Given the description of an element on the screen output the (x, y) to click on. 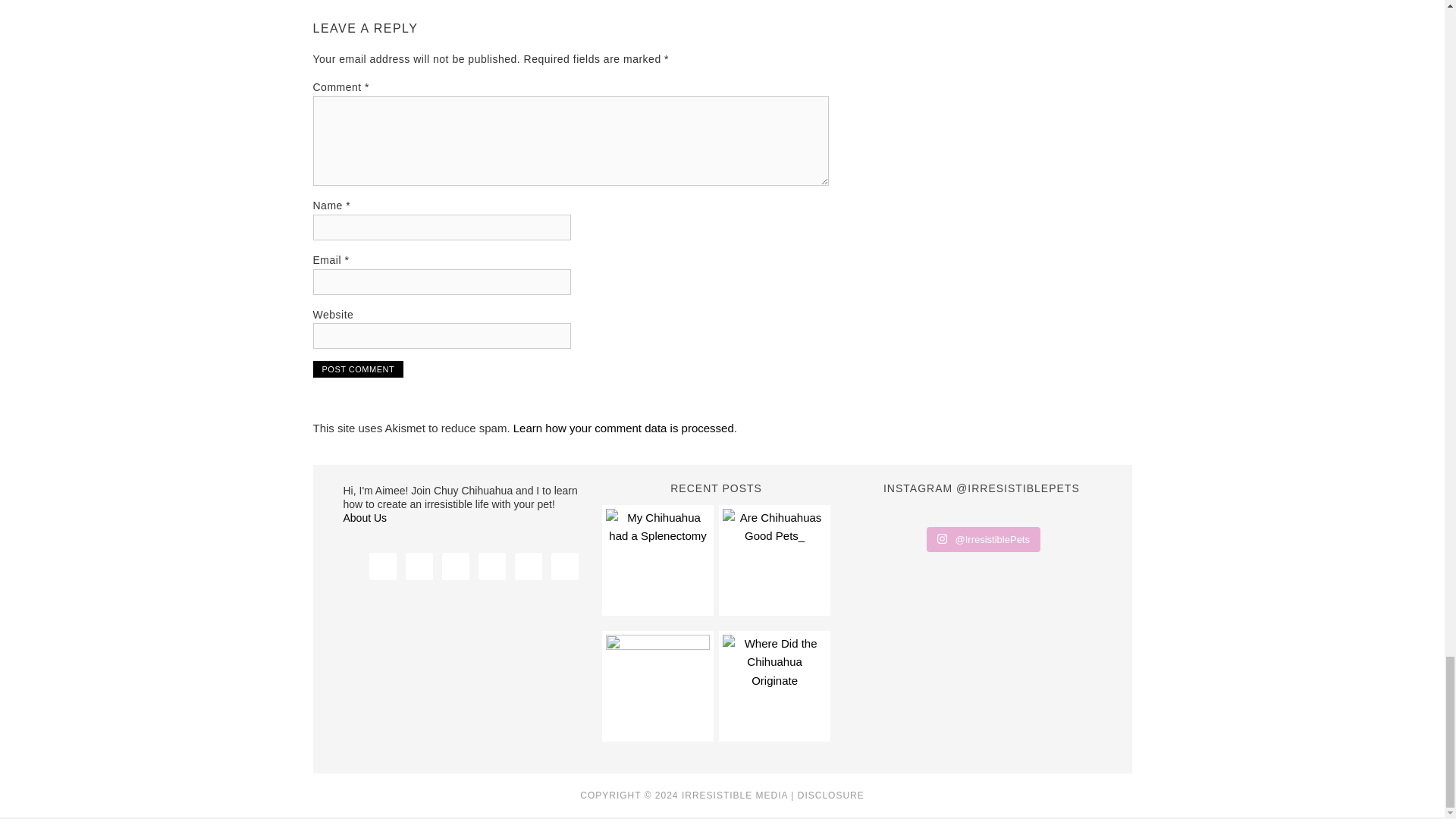
My Chihuahua Had a Splenectomy (657, 558)
Post Comment (358, 369)
Learn how your comment data is processed (623, 427)
Where Did the Chihuahua Originate? (773, 685)
Are Chihuahuas Good Pets? (773, 558)
Post Comment (358, 369)
